Given the description of an element on the screen output the (x, y) to click on. 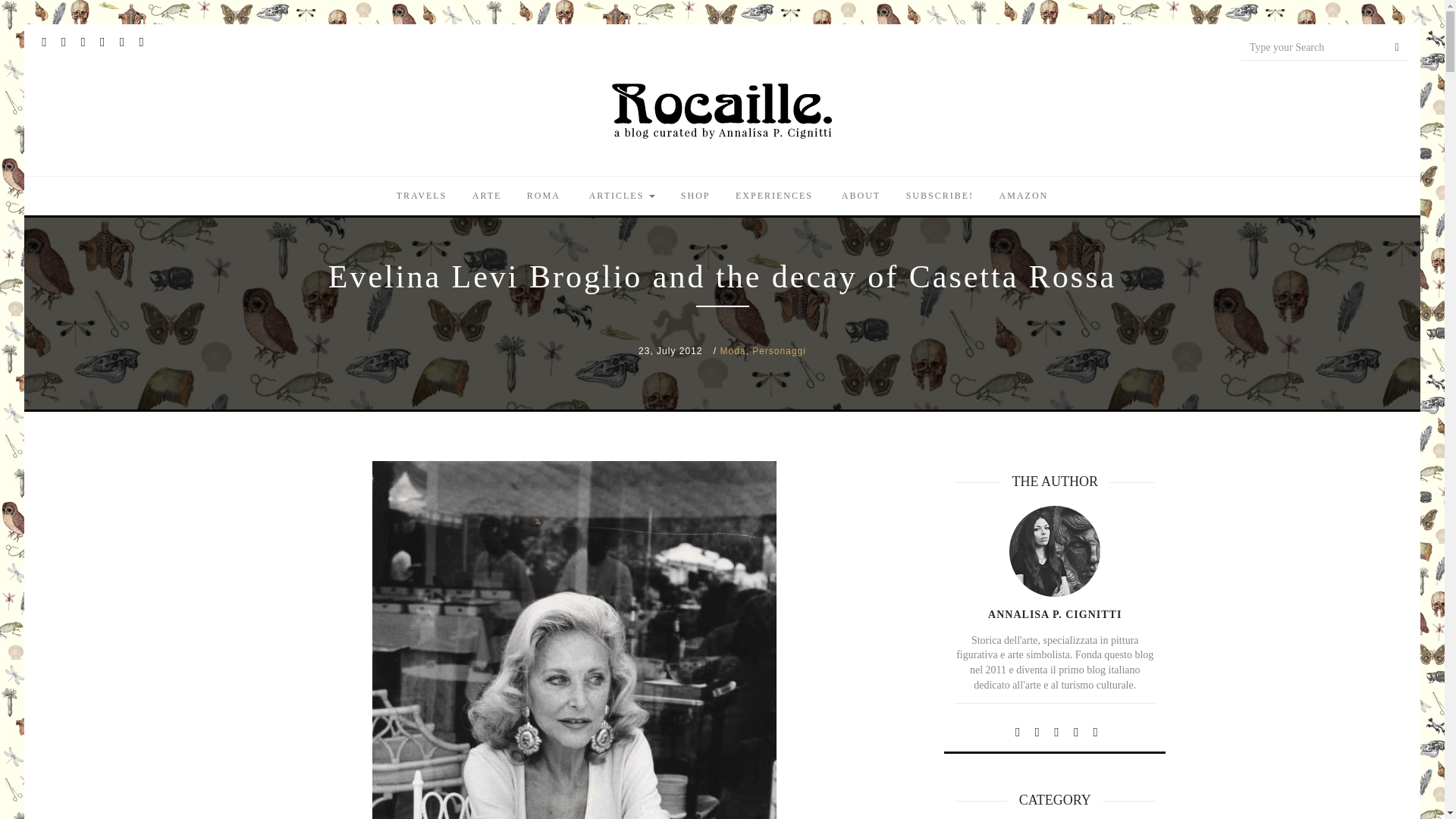
AMAZON (1023, 195)
TRAVELS (421, 195)
Arte (487, 195)
ARTE (487, 195)
Travels (421, 195)
 ABOUT (859, 195)
Roma (543, 195)
EXPERIENCES (773, 195)
Articles (619, 195)
SHOP (695, 195)
